Given the description of an element on the screen output the (x, y) to click on. 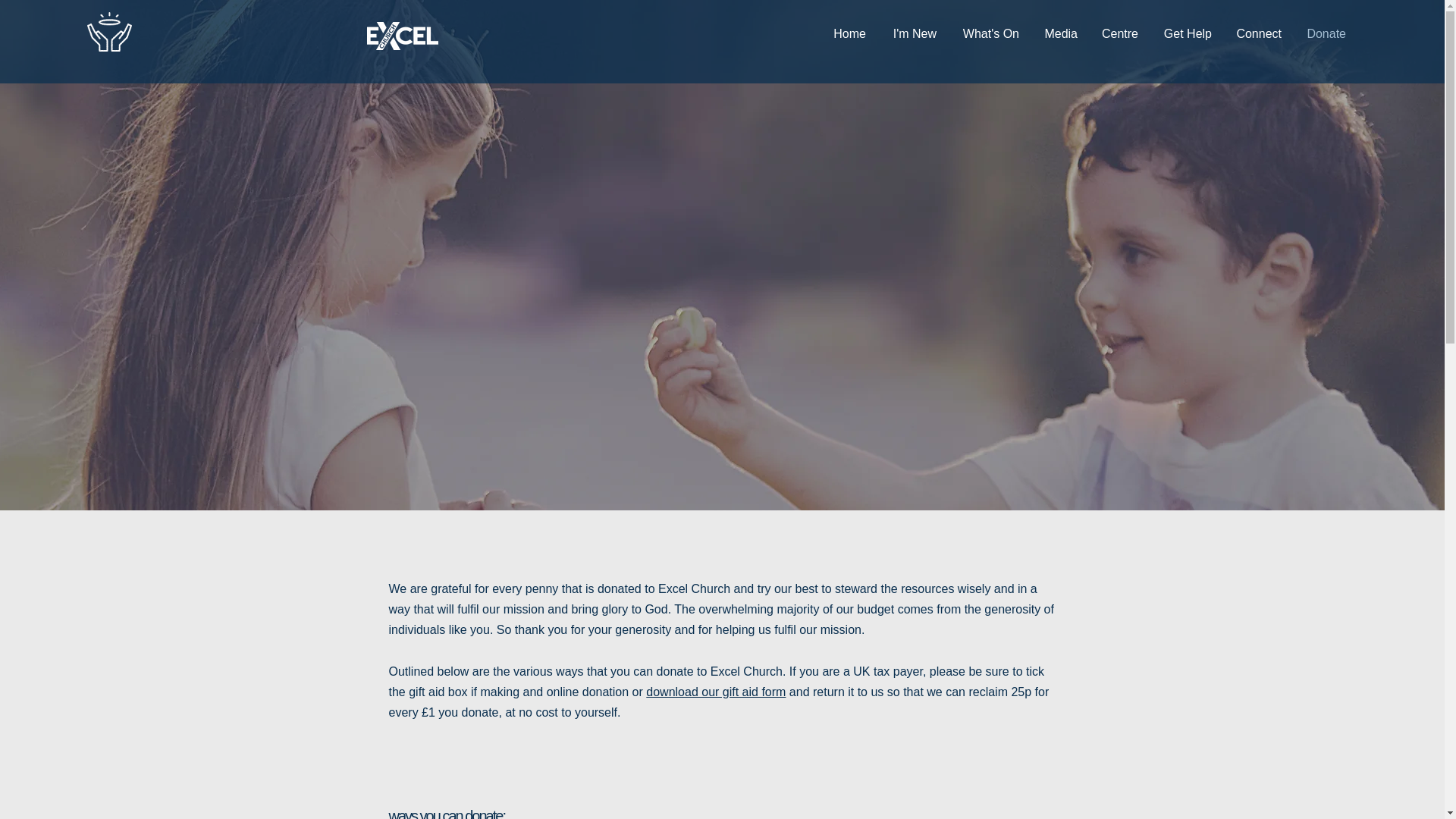
Home (109, 31)
Home (849, 34)
Donate (1324, 34)
Centre (1119, 34)
download our gift aid form (716, 691)
Get Help (1186, 34)
